Given the description of an element on the screen output the (x, y) to click on. 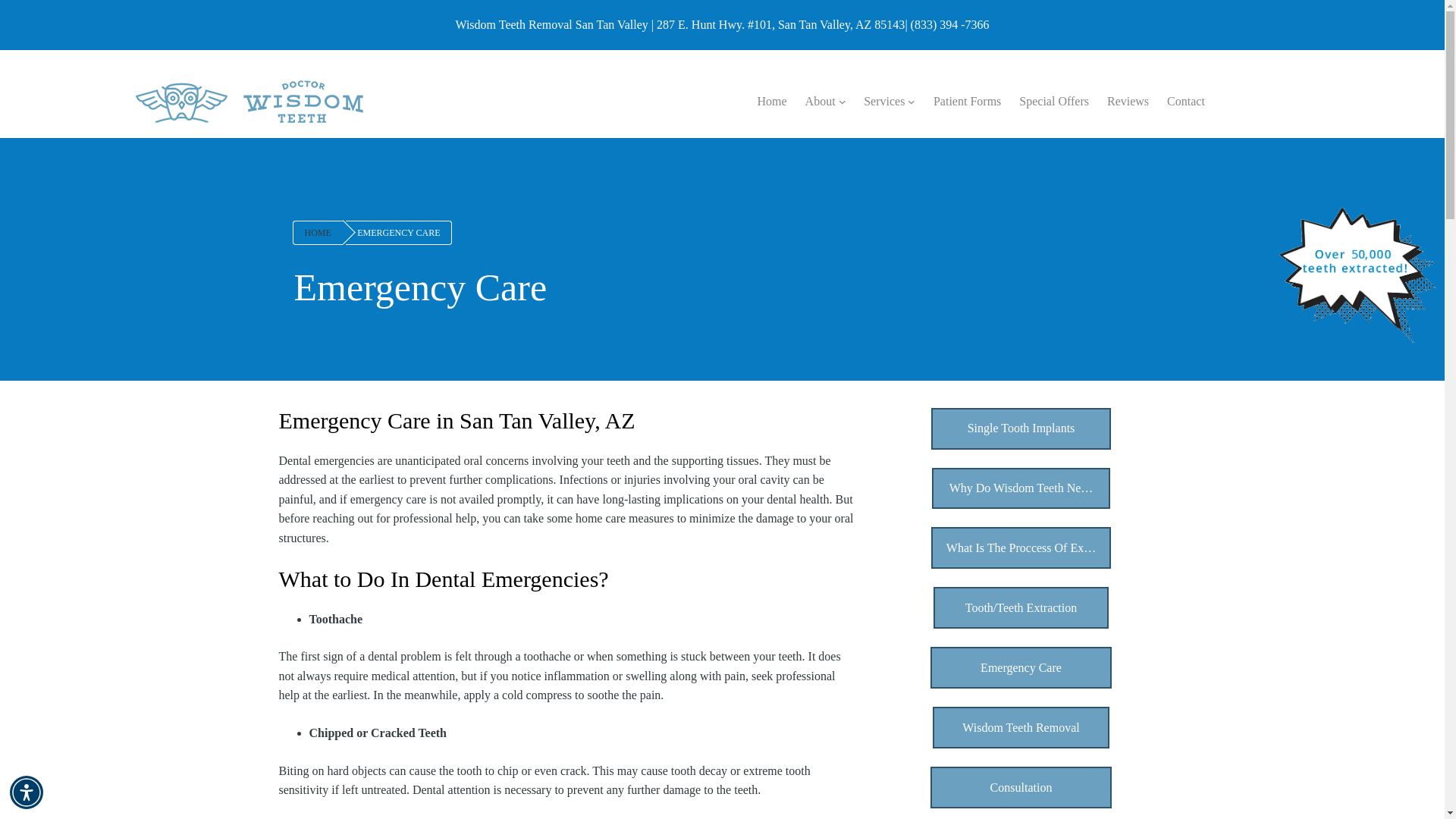
Single Tooth Implants (1021, 428)
Home (771, 101)
Wisdom Teeth Removal (1021, 727)
Patient Forms (967, 101)
Reviews (1127, 101)
About (820, 101)
Contact (1186, 101)
Consultation (1021, 787)
Emergency Care (1021, 667)
Special Offers (1054, 101)
HOME (317, 232)
Accessibility Menu (26, 792)
Services (883, 101)
